Given the description of an element on the screen output the (x, y) to click on. 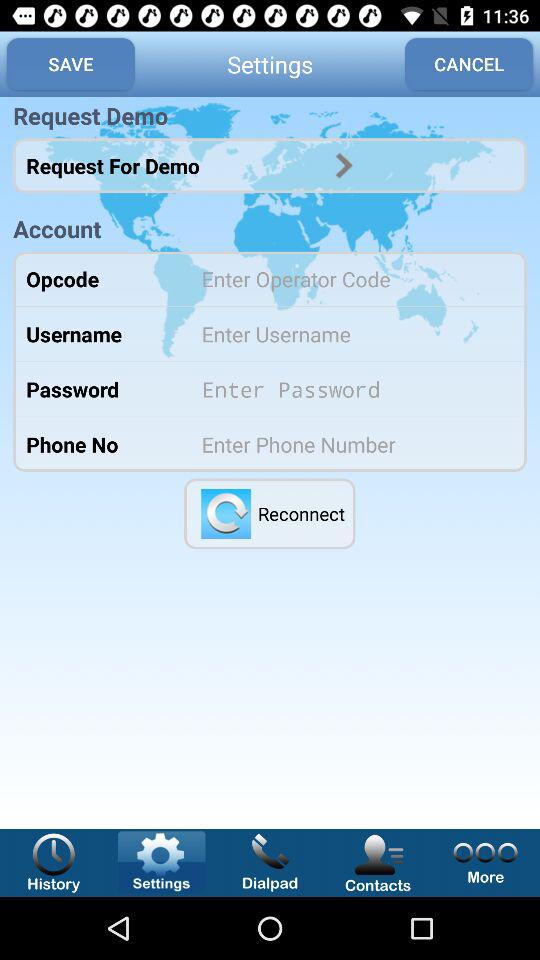
text box (350, 333)
